Given the description of an element on the screen output the (x, y) to click on. 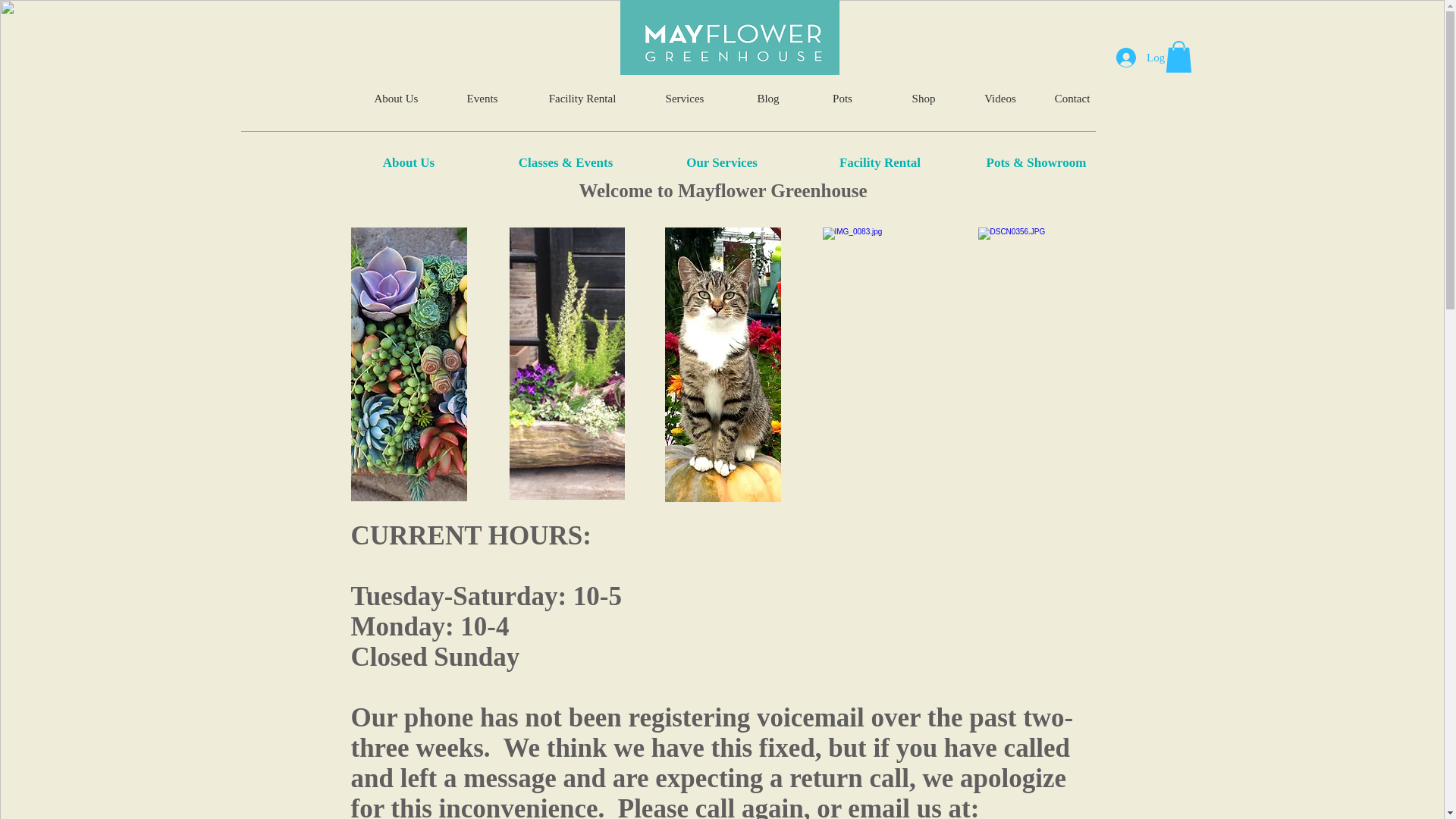
Facility Rental (879, 162)
Log In (1146, 57)
Services (684, 99)
Our Services (721, 162)
About Us (407, 162)
Facility Rental (582, 99)
About Us (396, 99)
